Given the description of an element on the screen output the (x, y) to click on. 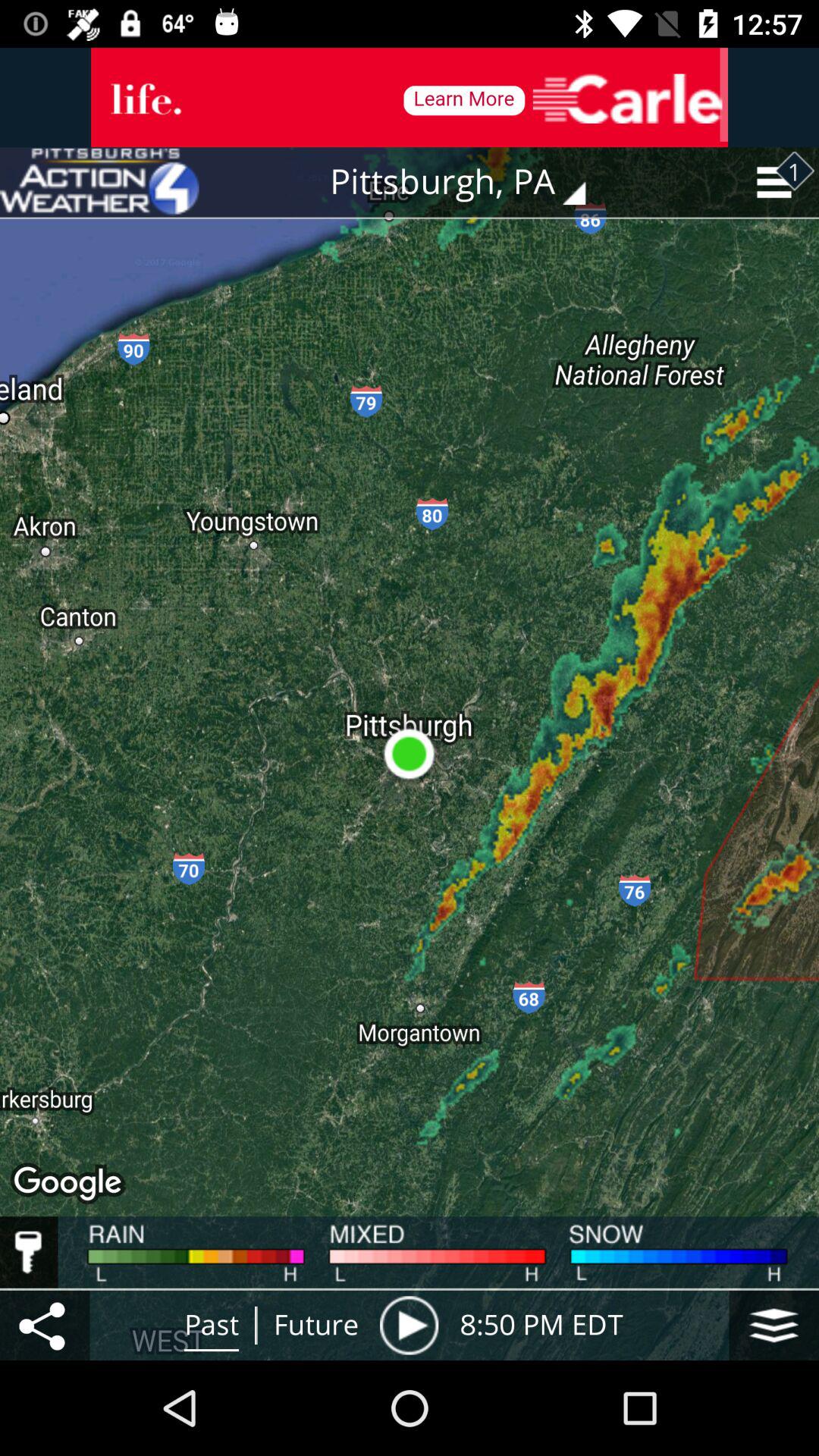
launch the item to the right of 8 50 pm (774, 1325)
